Given the description of an element on the screen output the (x, y) to click on. 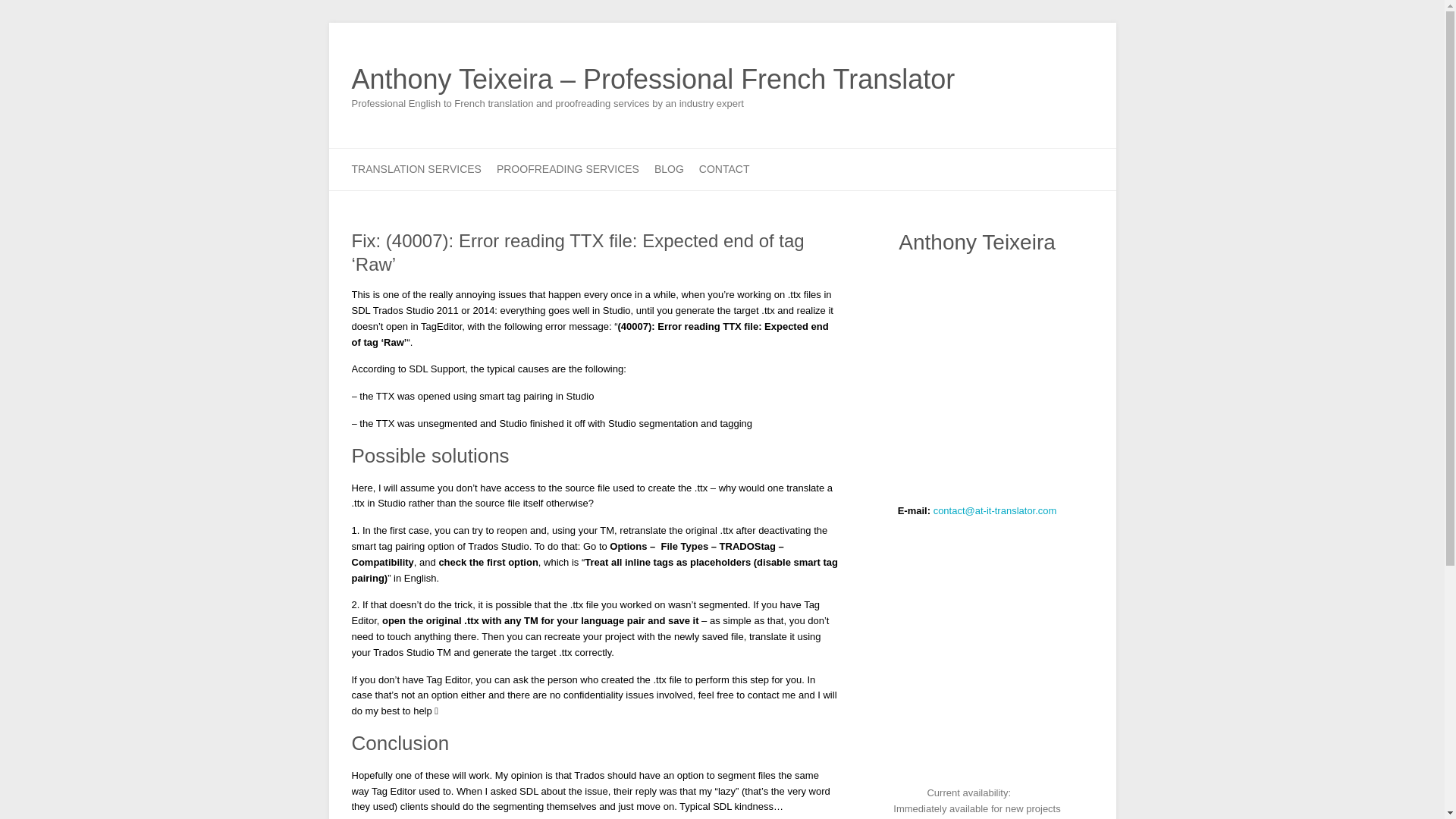
Currently available (1020, 792)
Translation Services (416, 169)
Anthony Teixeira - Professional French Translator LinkedIn (1081, 77)
Anthony Teixeira - Professional French Translator Facebook (1036, 77)
Anthony Teixeira - Professional French Translator on Twitter (1059, 77)
PROOFREADING SERVICES (567, 169)
CONTACT (723, 169)
TRANSLATION SERVICES (416, 169)
